Given the description of an element on the screen output the (x, y) to click on. 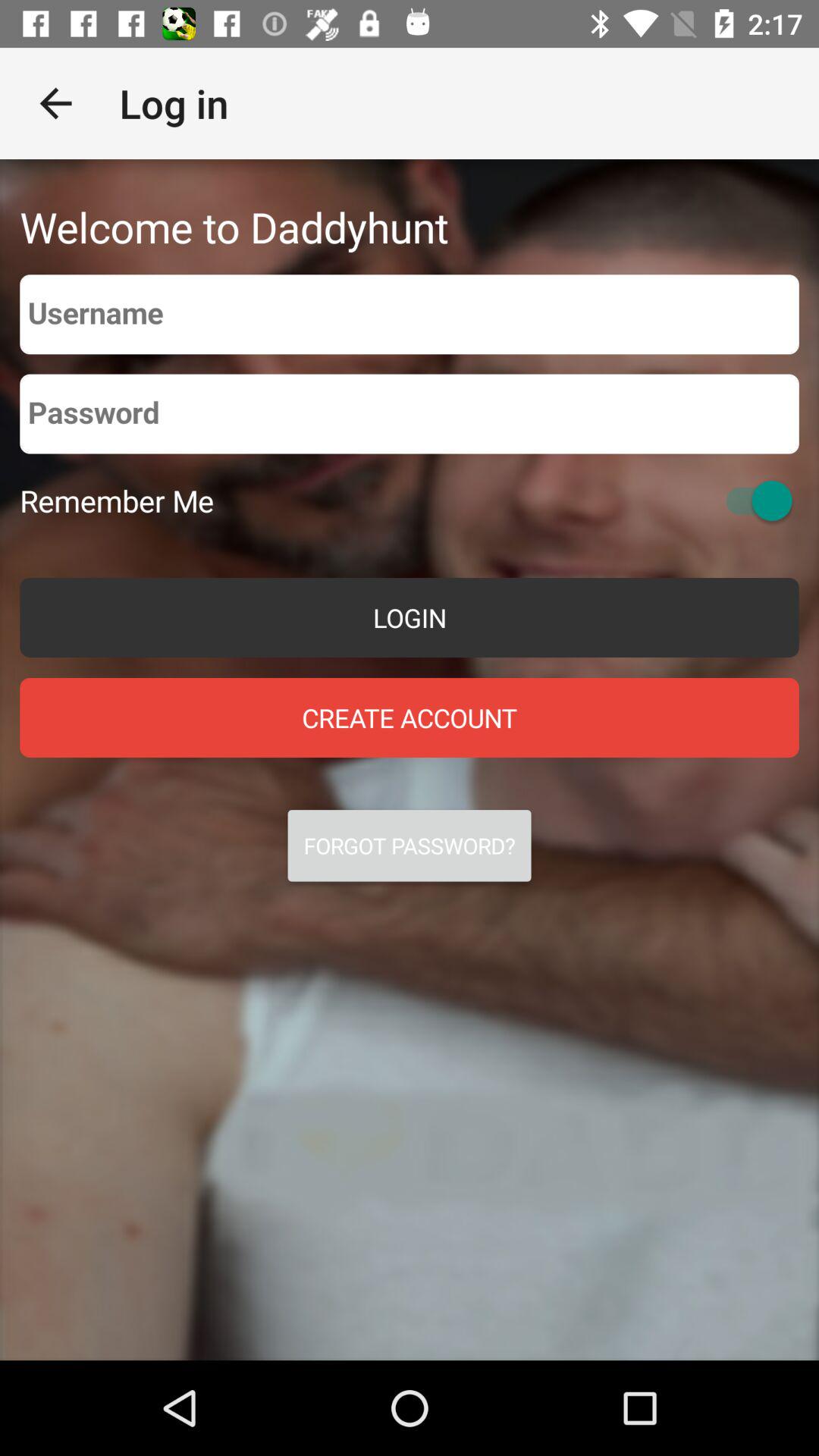
jump until forgot password? item (409, 845)
